Given the description of an element on the screen output the (x, y) to click on. 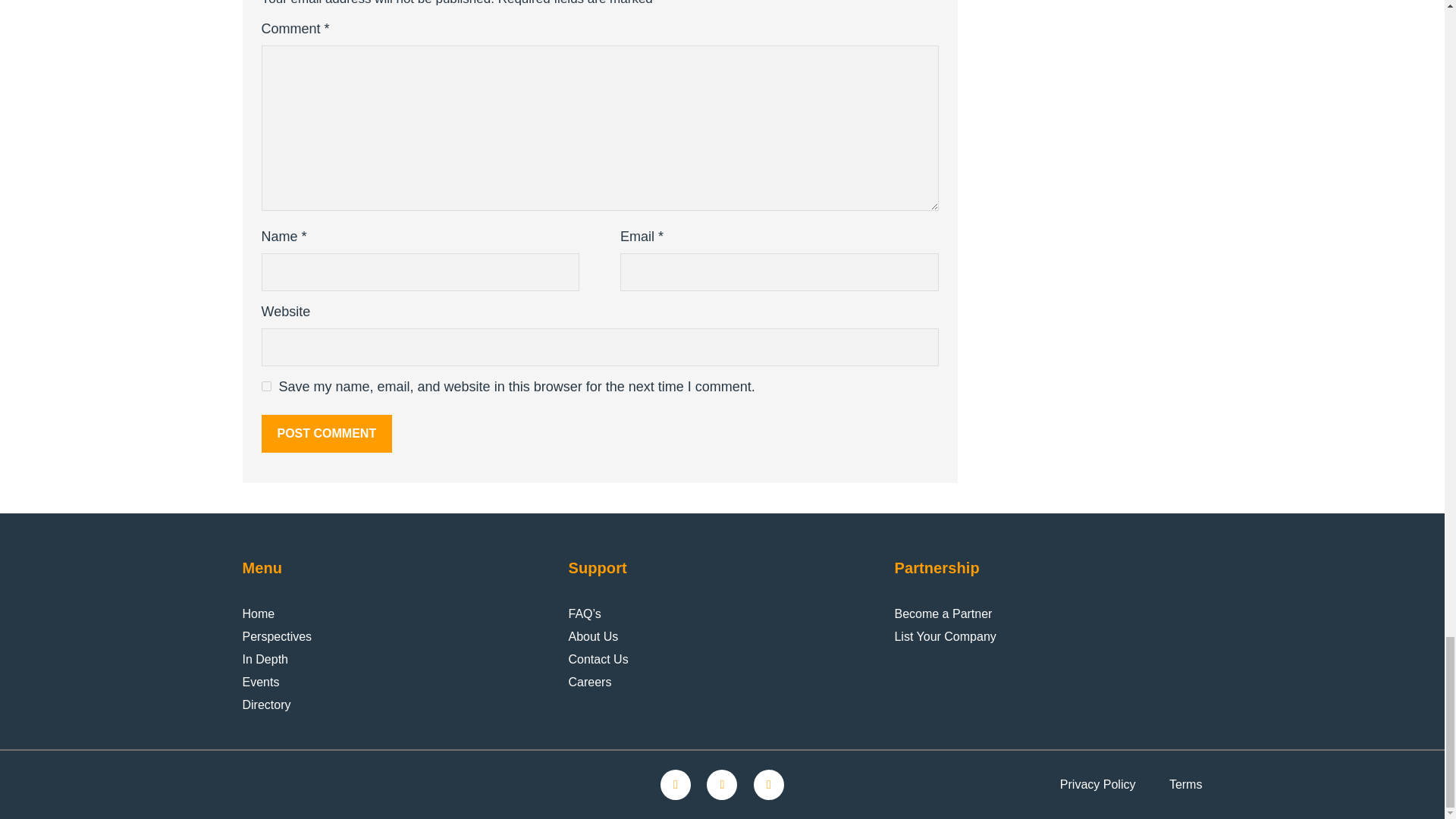
Home (259, 614)
Post Comment (325, 433)
Post Comment (325, 433)
yes (265, 386)
